Given the description of an element on the screen output the (x, y) to click on. 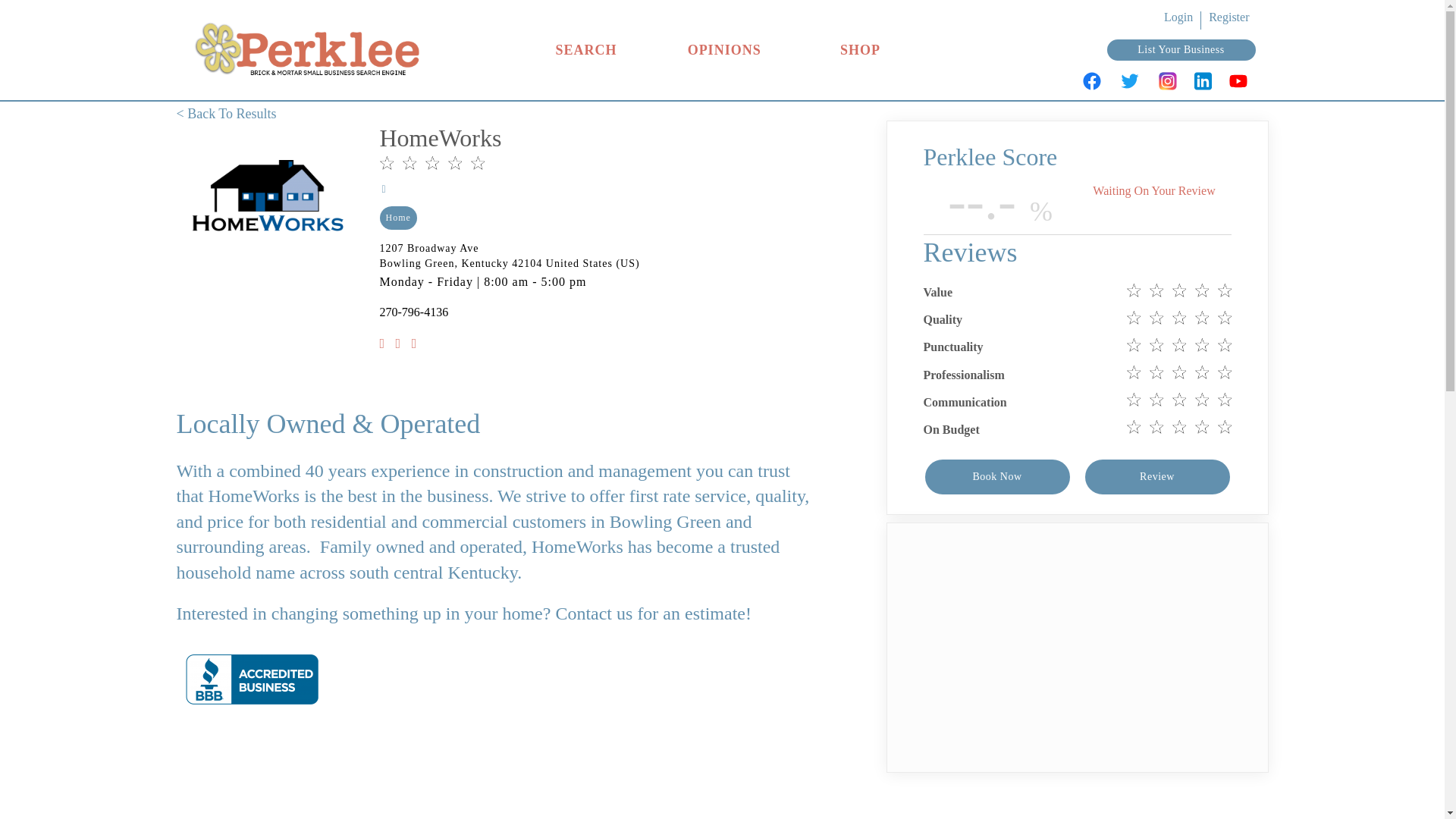
0.0 birdies (1178, 429)
SHOP (860, 49)
0.0 birdies (1178, 374)
List Your Business (1180, 49)
OPINIONS (724, 49)
Review (1156, 476)
Register (1228, 16)
270-796-4136 (413, 311)
Login (1177, 16)
1 dollars (508, 188)
0.0 birdies (1178, 347)
Book Now (997, 476)
0.0 birdies (1178, 402)
SEARCH (584, 49)
0.0 birdies (430, 165)
